Given the description of an element on the screen output the (x, y) to click on. 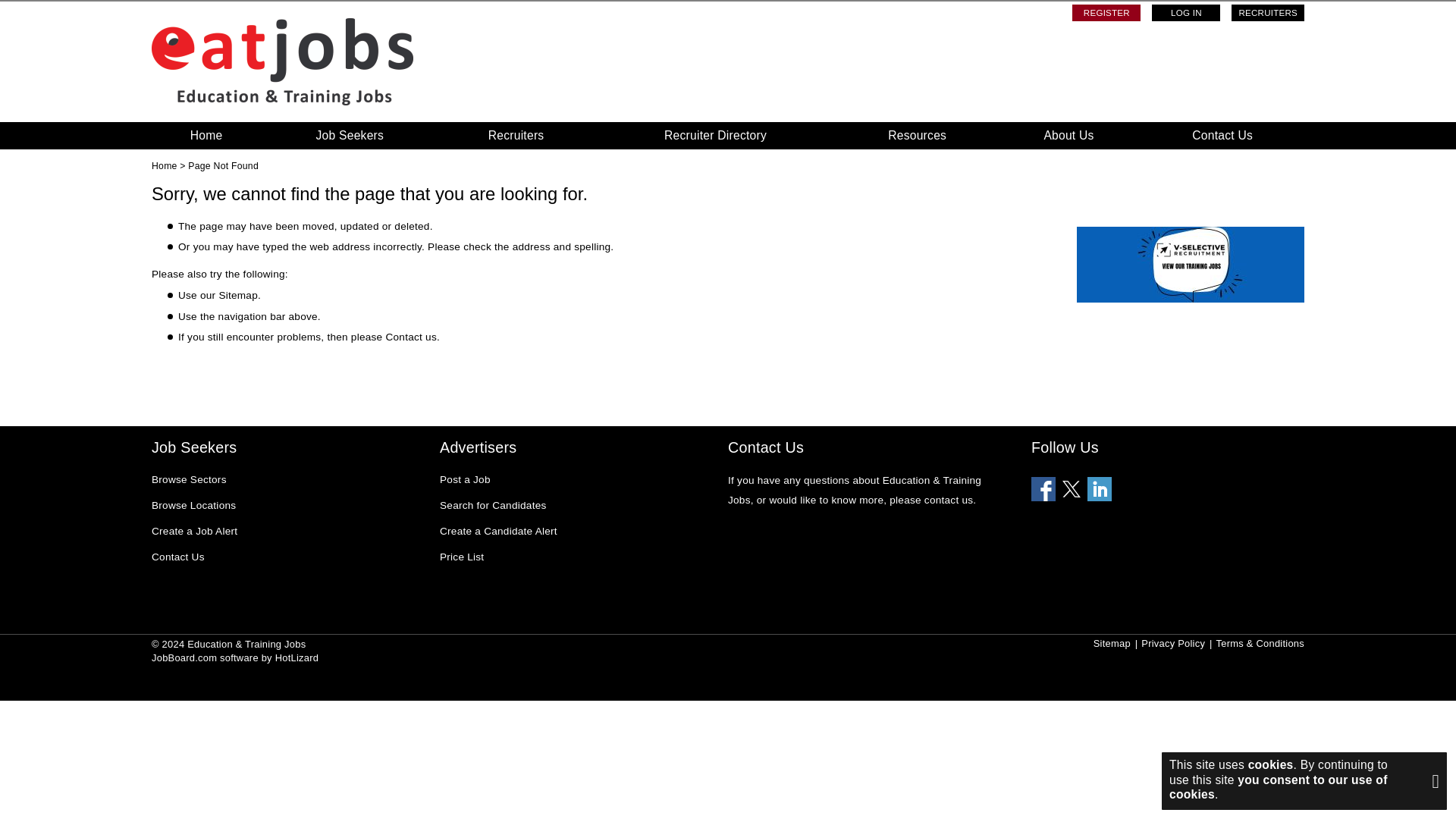
Browse Sectors (189, 480)
RECRUITERS (1267, 12)
Recruiters (516, 135)
Home (205, 135)
Search for Candidates (493, 506)
Price List (461, 557)
Job Seekers (349, 135)
Recruiter Directory (716, 135)
Privacy Policy (1173, 643)
Contact Us (178, 557)
